Given the description of an element on the screen output the (x, y) to click on. 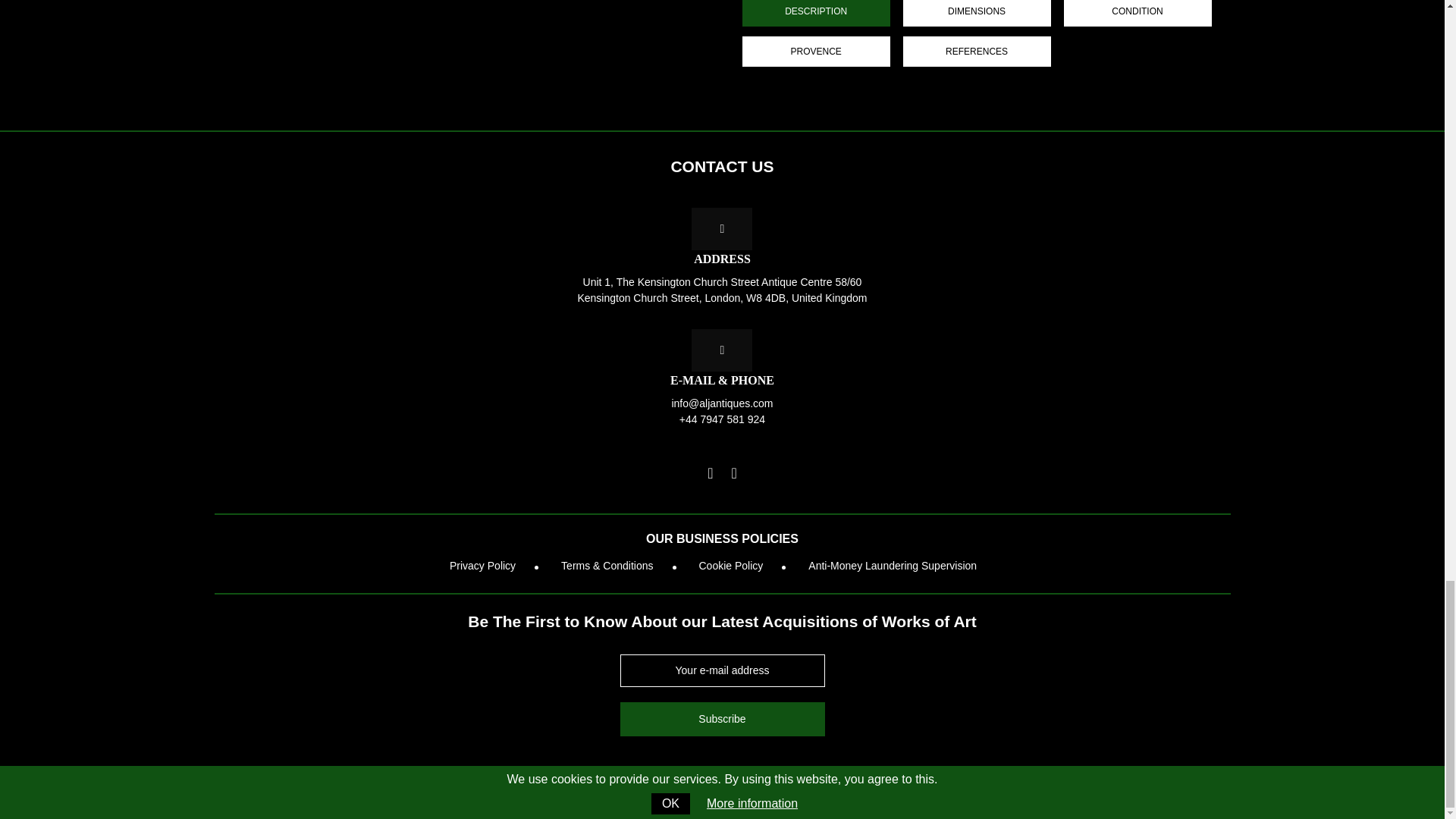
Subscribe (722, 718)
